Given the description of an element on the screen output the (x, y) to click on. 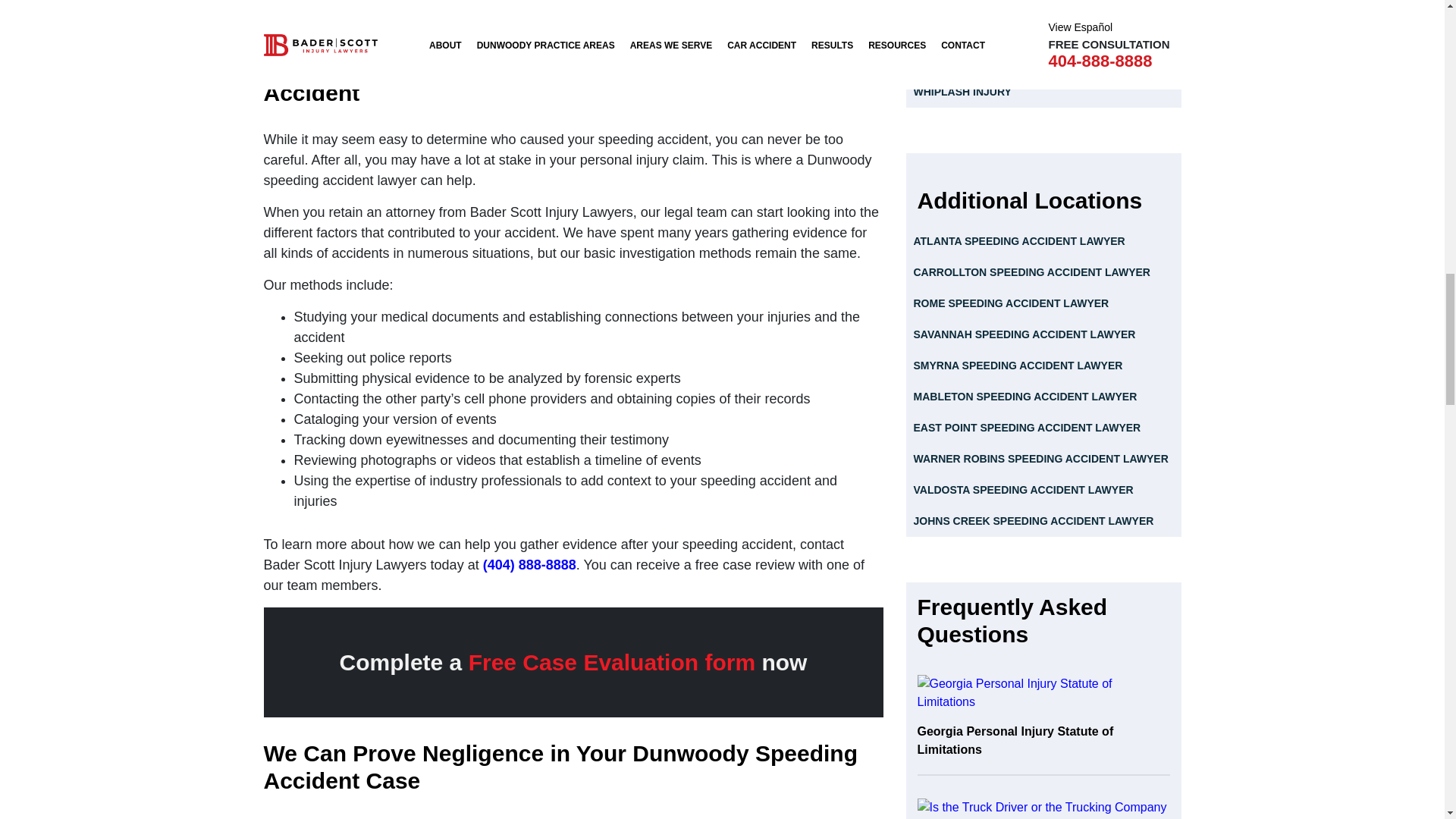
Georgia Personal Injury Statute of Limitations (1043, 692)
Georgia Personal Injury Statute of Limitations (1043, 724)
